Given the description of an element on the screen output the (x, y) to click on. 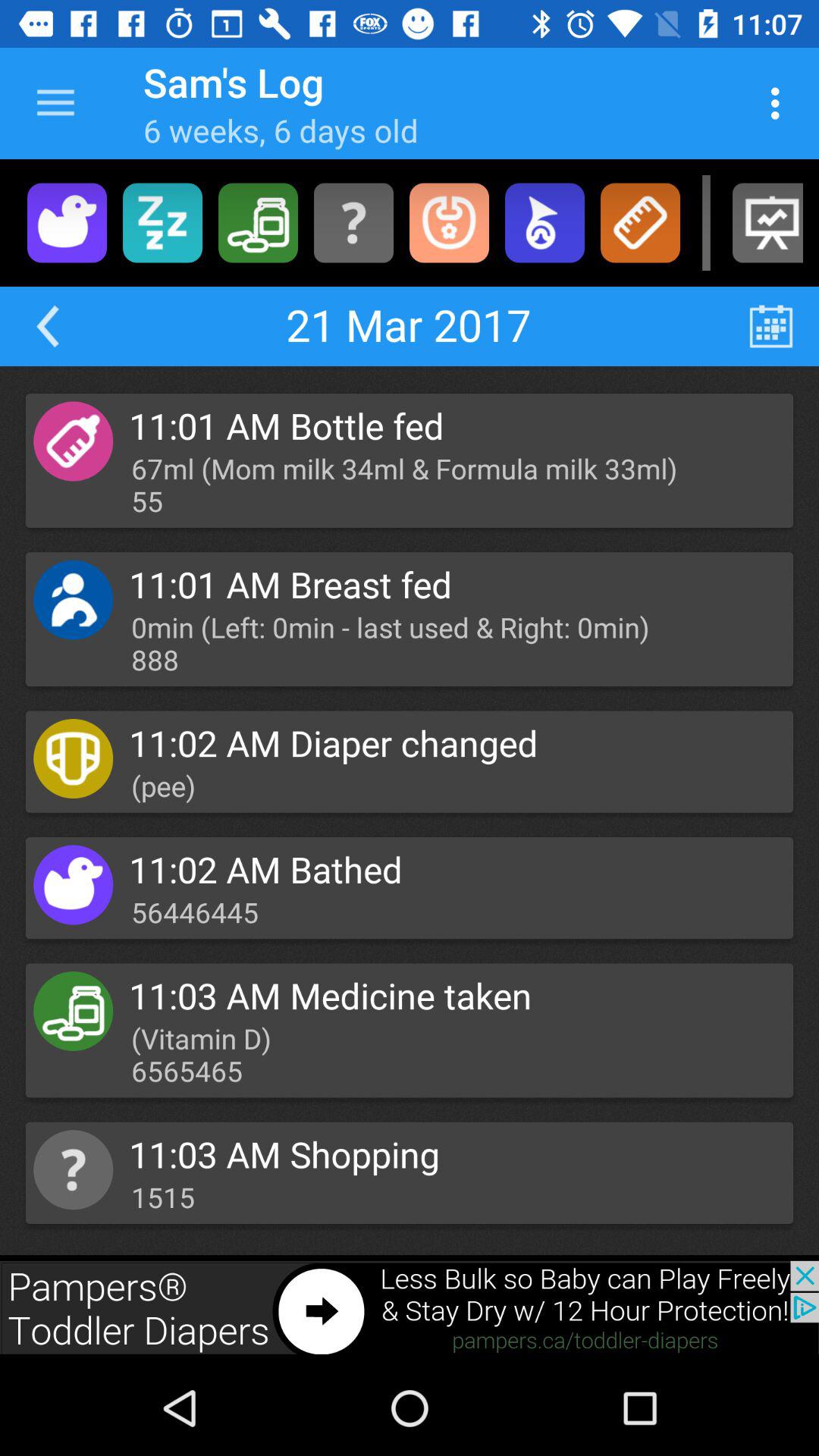
delete (258, 222)
